Given the description of an element on the screen output the (x, y) to click on. 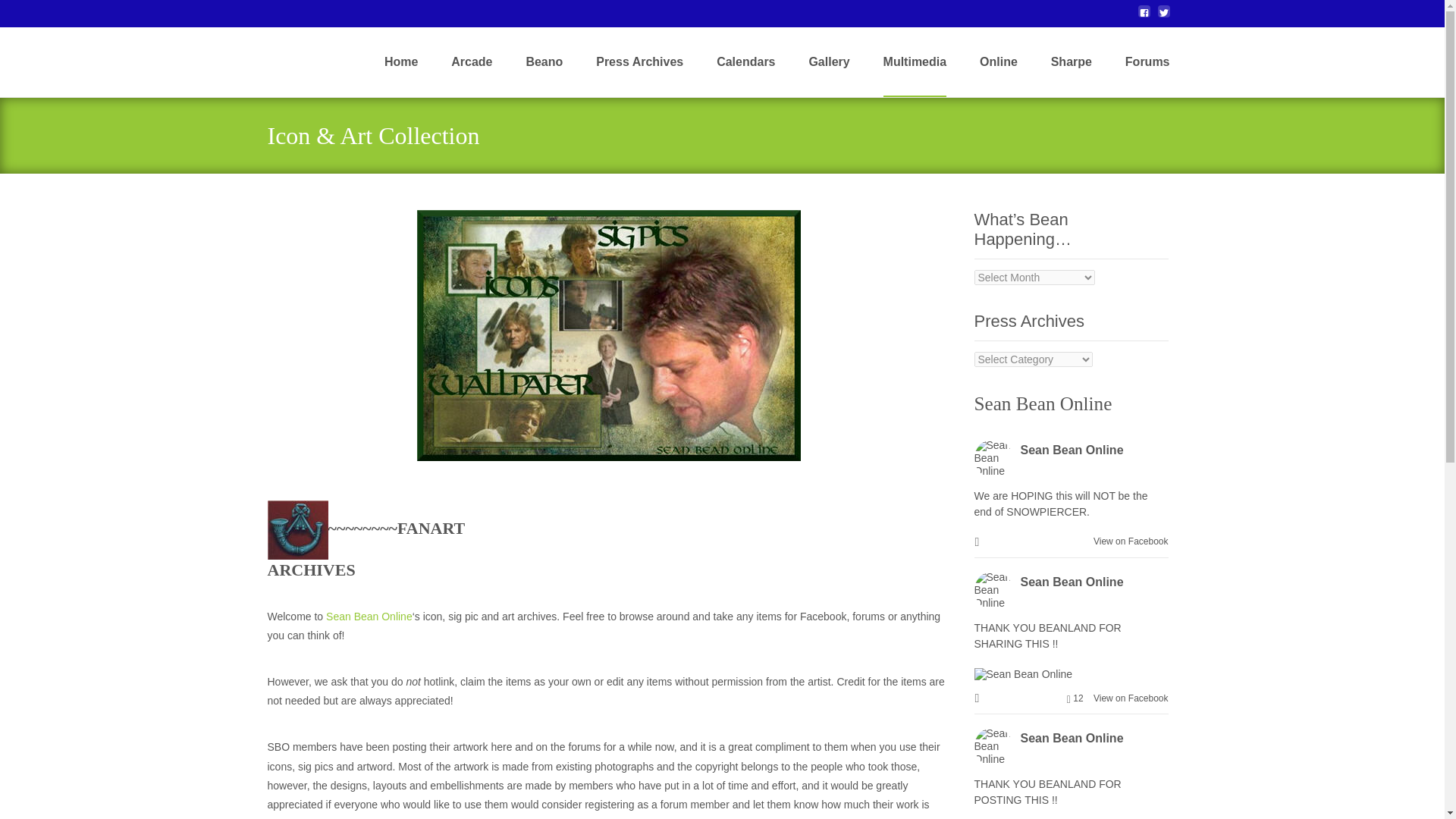
facebook (1143, 17)
Social Share Options (979, 698)
Multimedia (915, 62)
Press Archives (638, 62)
twitter (1163, 17)
Sean Bean Online (369, 616)
Sean Bean Online (1072, 449)
Sean Bean Online (1043, 403)
